Given the description of an element on the screen output the (x, y) to click on. 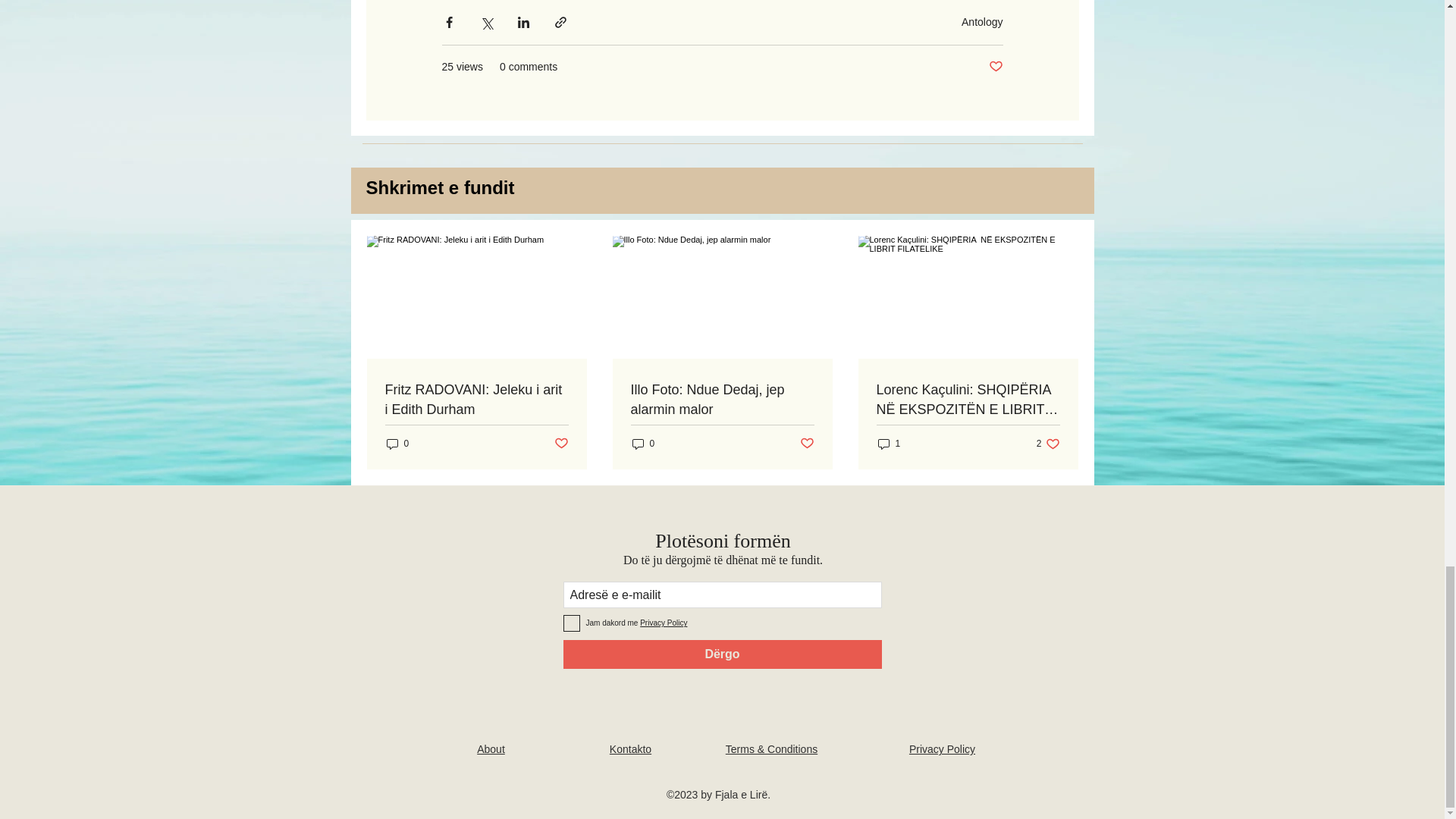
Post not marked as liked (560, 443)
Antology (981, 21)
0 (397, 443)
Fritz RADOVANI: Jeleku i arit i Edith Durham (477, 399)
Post not marked as liked (995, 66)
